Given the description of an element on the screen output the (x, y) to click on. 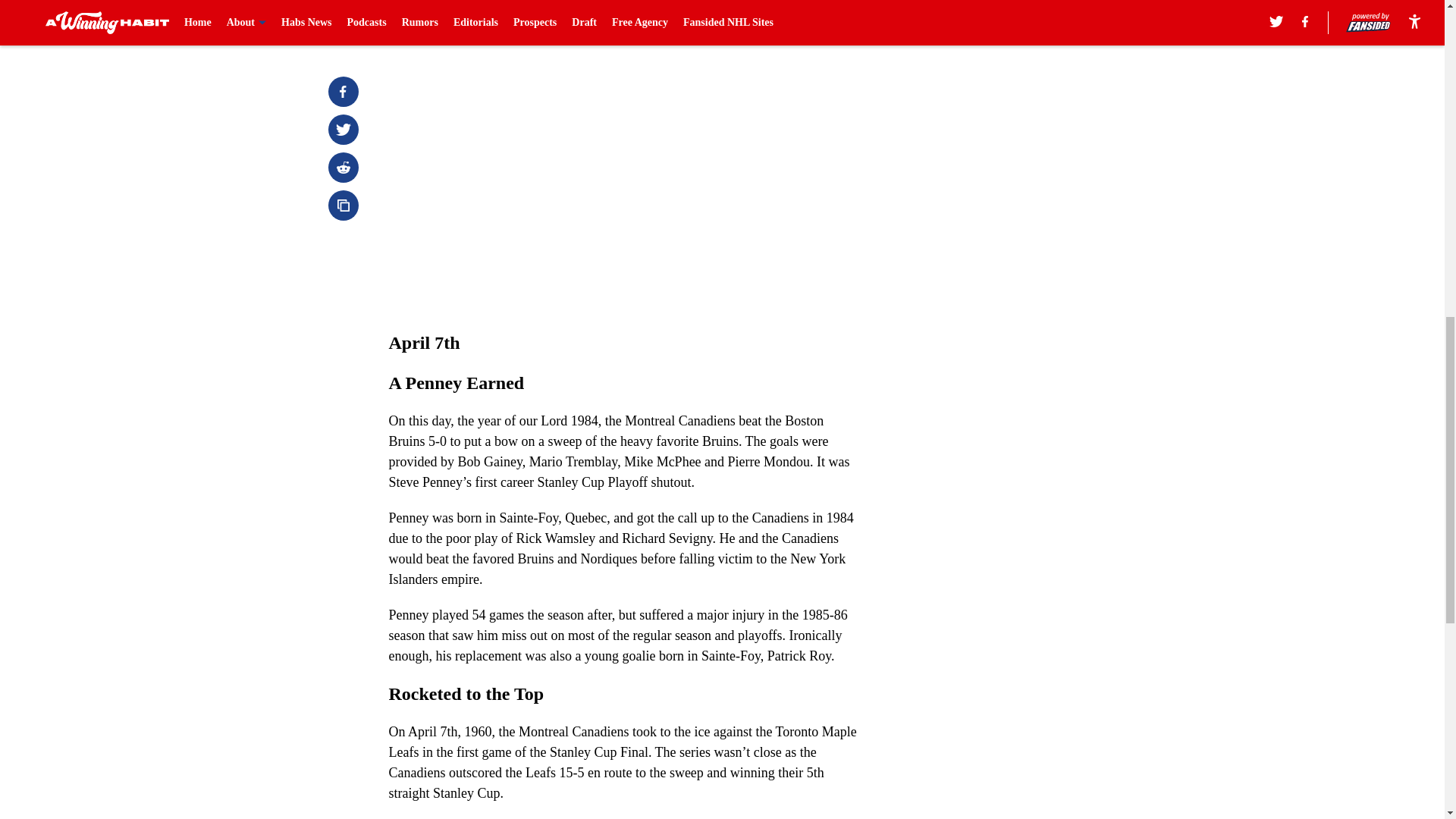
Next (813, 20)
Prev (433, 20)
